Given the description of an element on the screen output the (x, y) to click on. 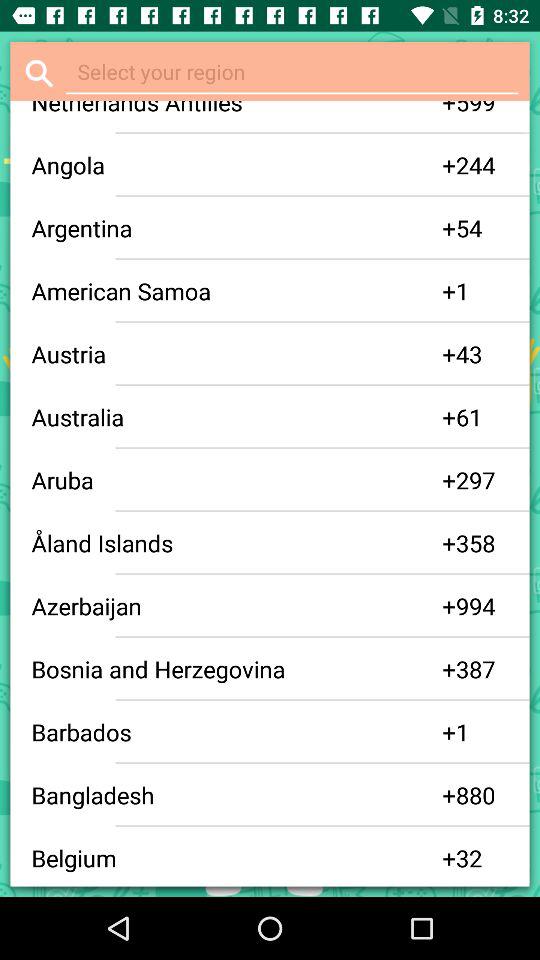
select the app to the right of the austria (449, 354)
